Given the description of an element on the screen output the (x, y) to click on. 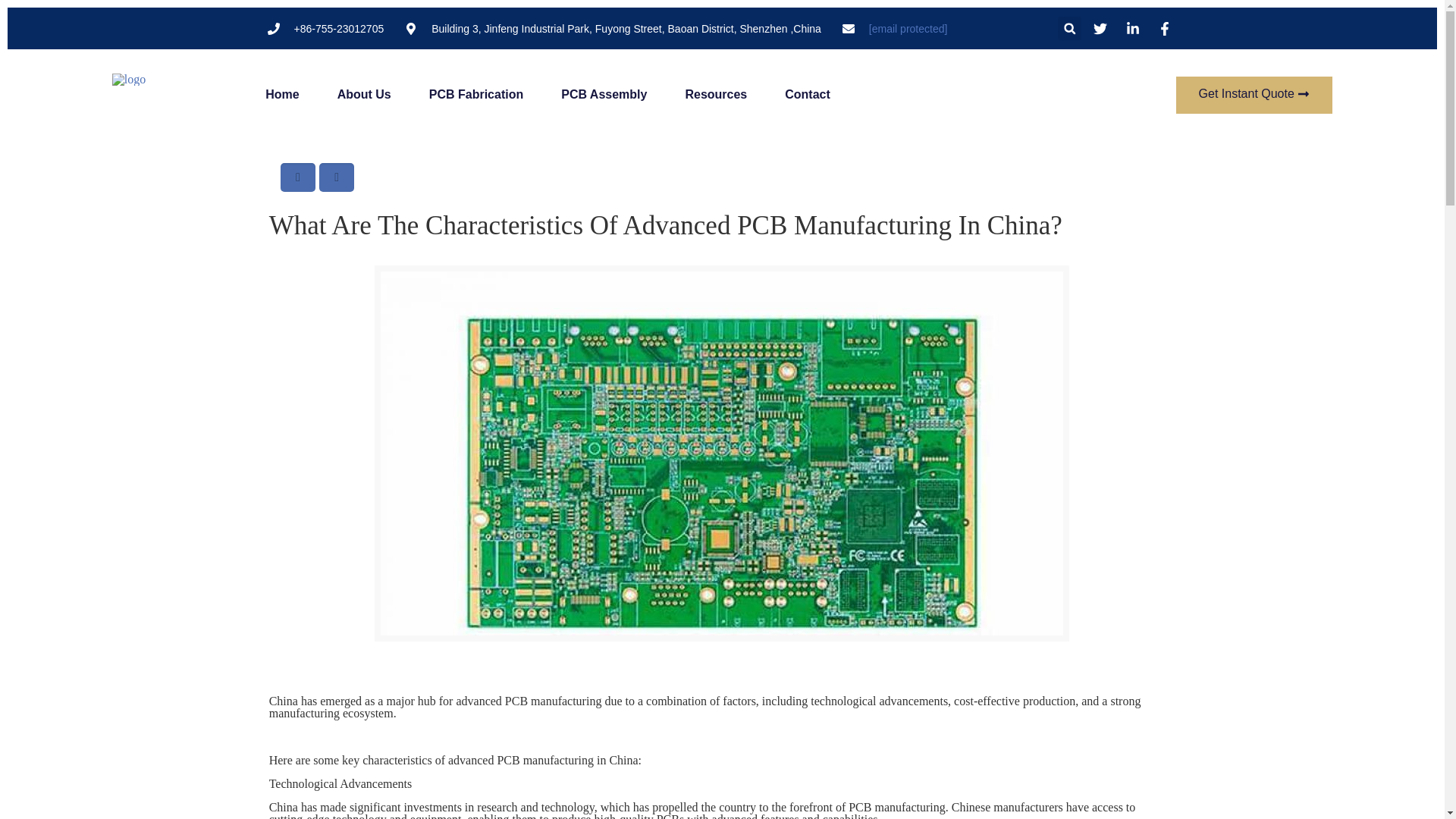
About Us (364, 94)
logo (128, 79)
Contact (806, 94)
Resources (715, 94)
PCB Fabrication (475, 94)
PCB Assembly (603, 94)
